Given the description of an element on the screen output the (x, y) to click on. 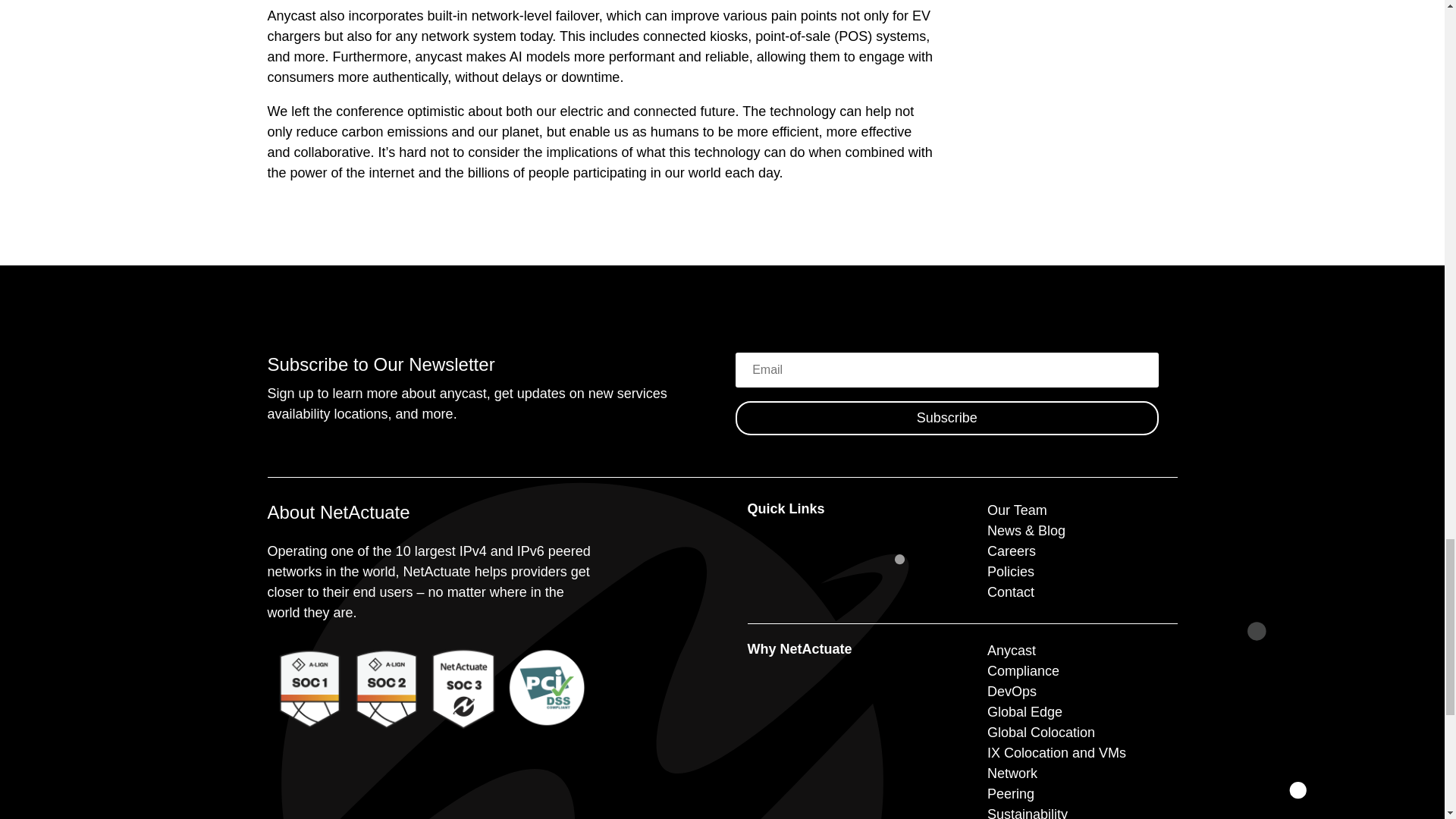
SOC BADGES 2024-NETACTUATE (427, 686)
